Given the description of an element on the screen output the (x, y) to click on. 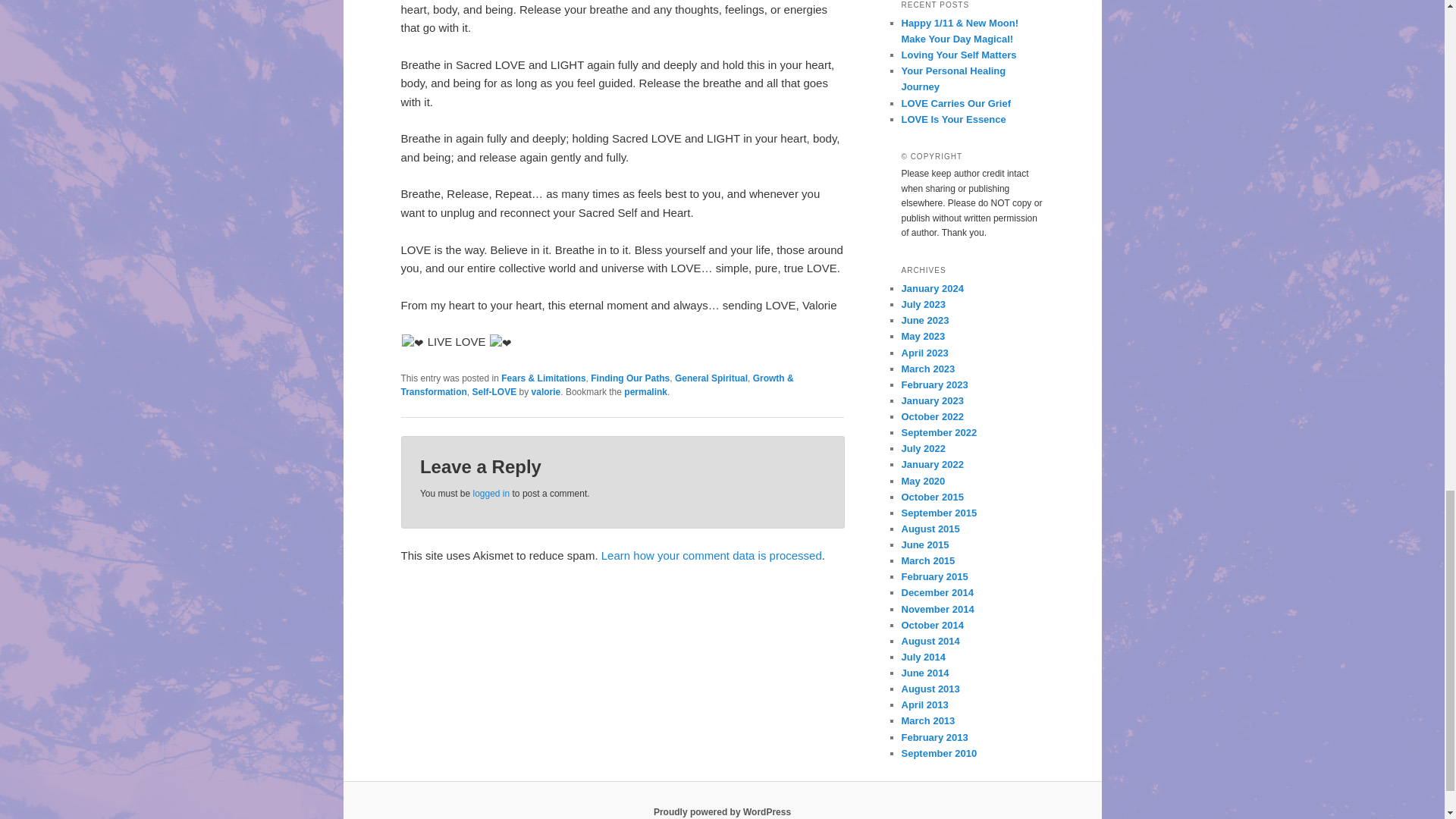
Semantic Personal Publishing Platform (721, 811)
logged in (490, 493)
Finding Our Paths (630, 378)
Learn how your comment data is processed (711, 554)
Self-LOVE (493, 391)
General Spiritual (711, 378)
permalink (645, 391)
valorie (545, 391)
